Given the description of an element on the screen output the (x, y) to click on. 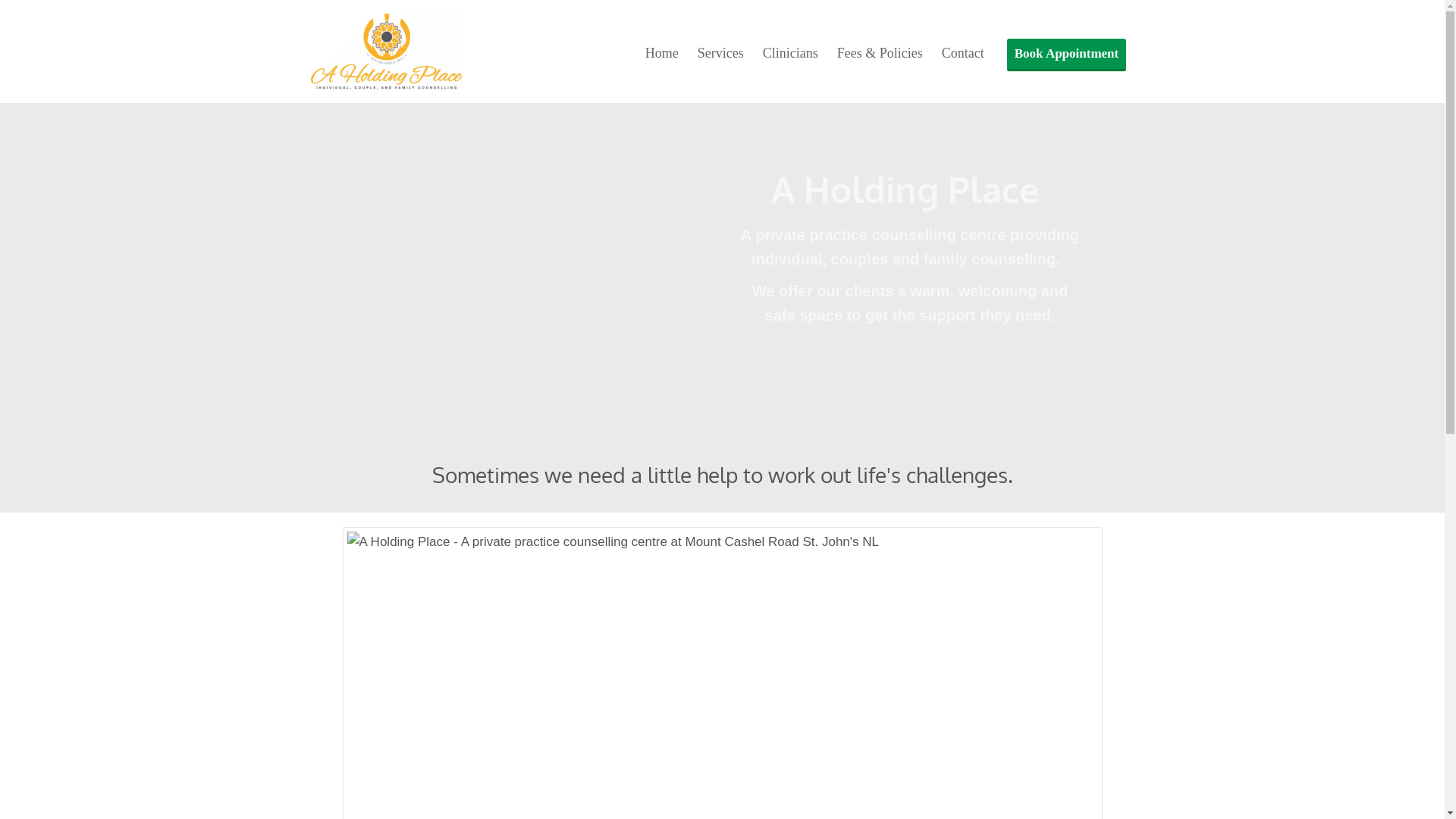
Clinicians Element type: text (790, 53)
Services Element type: text (720, 53)
Contact Element type: text (962, 53)
Home Element type: text (661, 53)
Book Appointment Element type: text (1066, 54)
Fees & Policies Element type: text (879, 53)
